Given the description of an element on the screen output the (x, y) to click on. 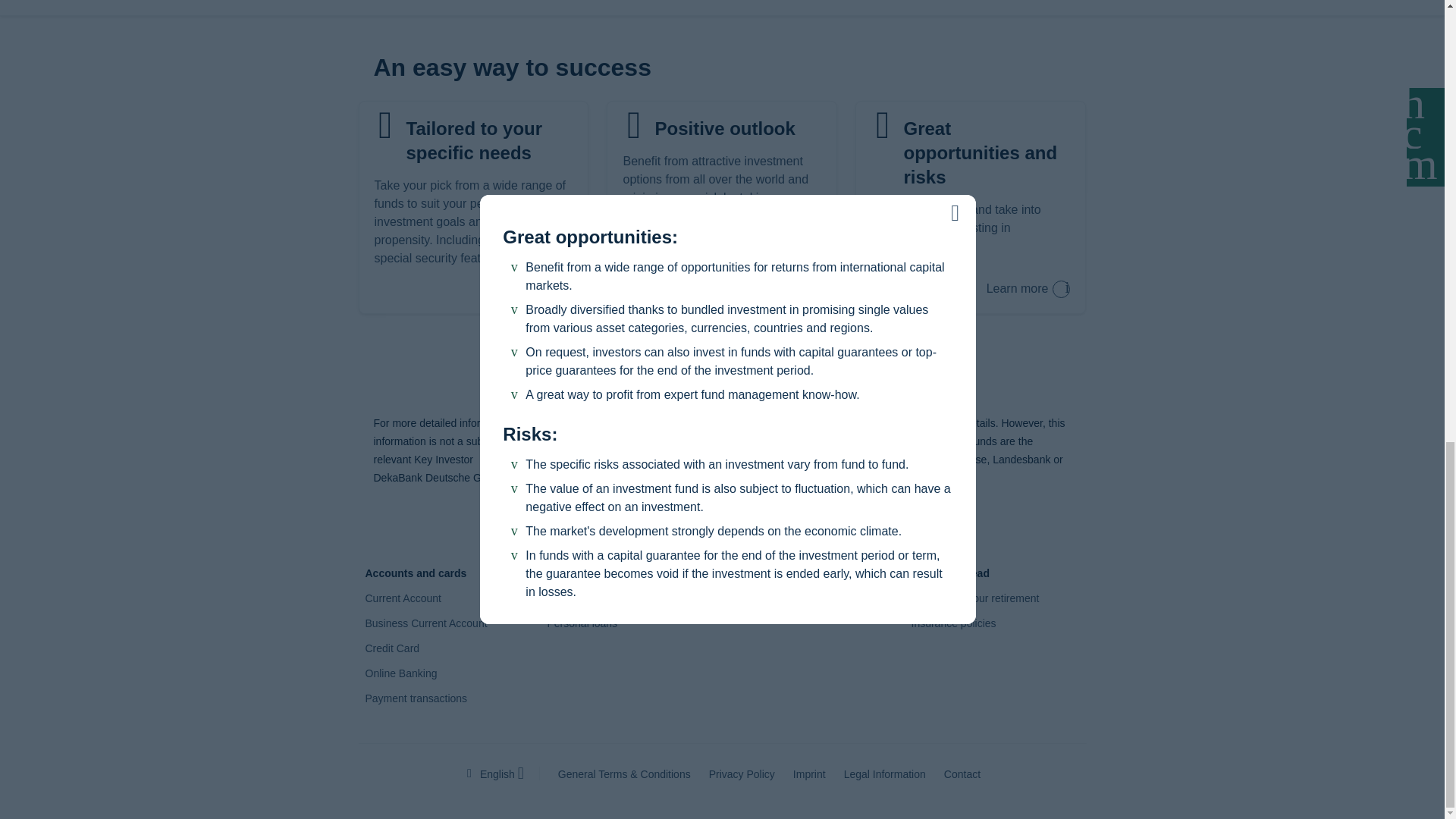
Learn more (1028, 289)
Book an appointment (722, 368)
Current Account (403, 598)
Learn more (1028, 289)
Book an appointment (722, 368)
Business Current Account (426, 623)
